Given the description of an element on the screen output the (x, y) to click on. 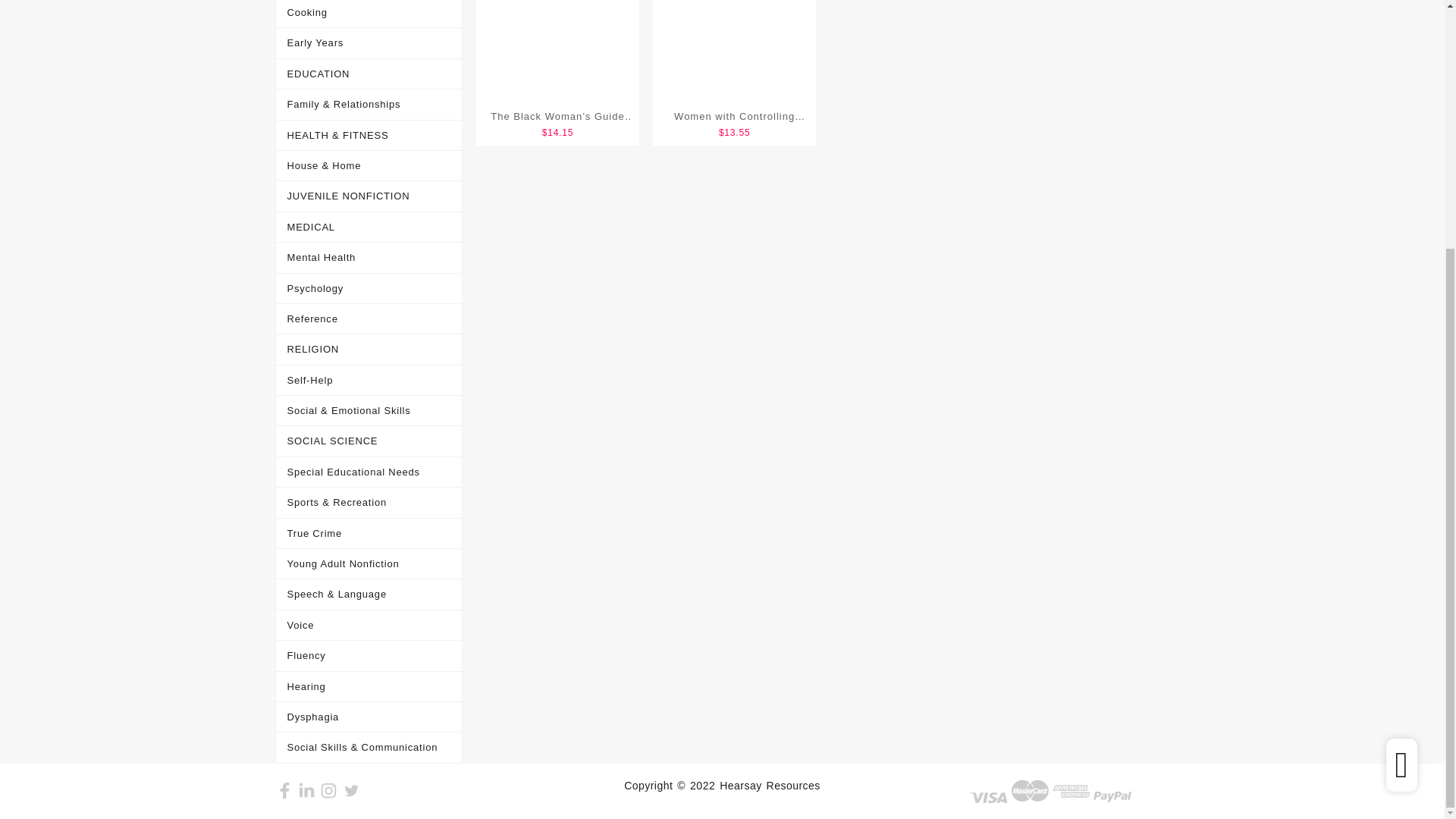
American Express (1071, 790)
Visa (988, 797)
Mastercard (1030, 790)
Paypal (1112, 797)
